Given the description of an element on the screen output the (x, y) to click on. 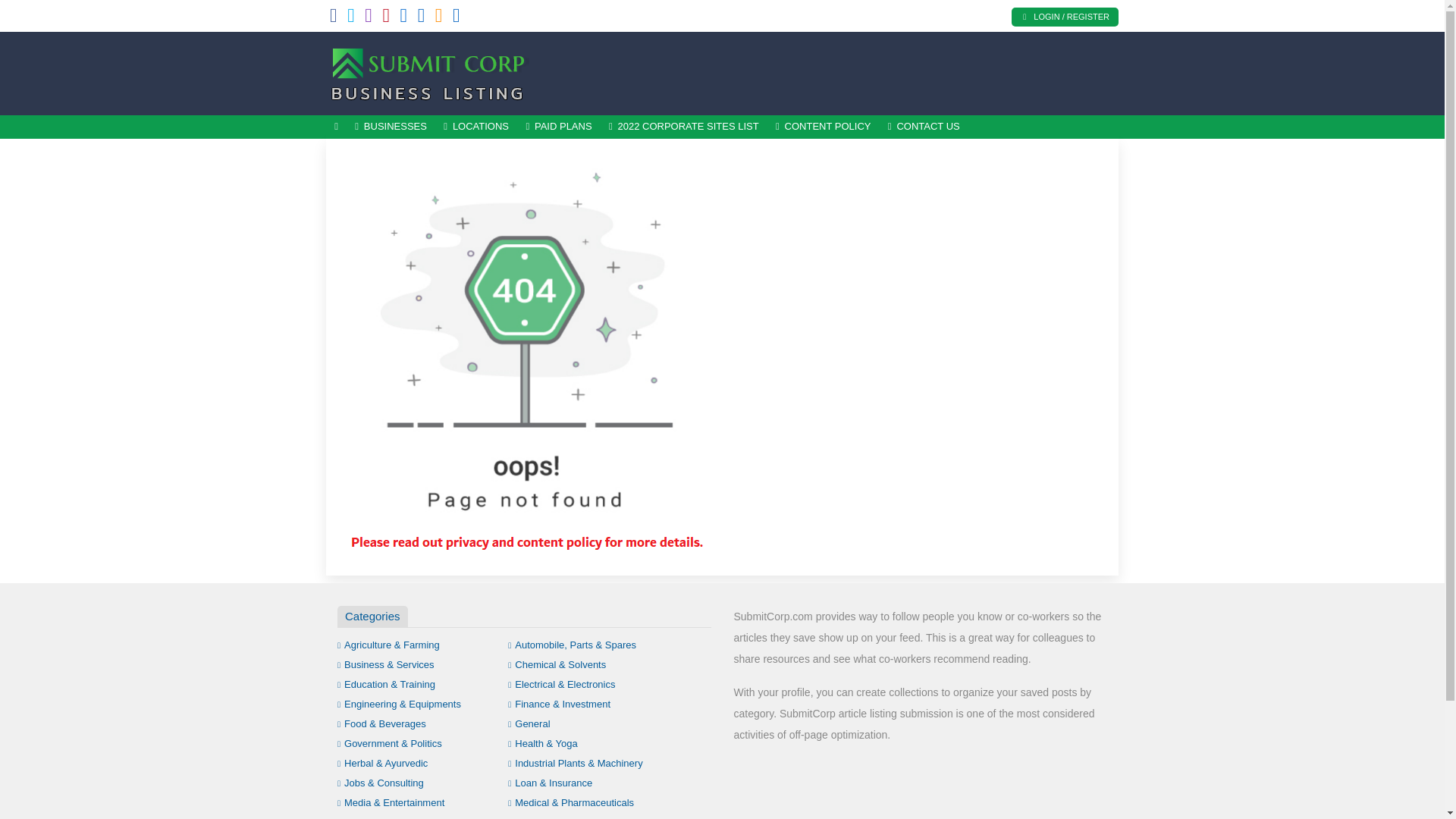
General (529, 723)
LOCATIONS (475, 126)
PAID PLANS (557, 126)
CONTACT US (923, 126)
CONTENT POLICY (823, 126)
2022 CORPORATE SITES LIST (683, 126)
BUSINESSES (390, 126)
